Given the description of an element on the screen output the (x, y) to click on. 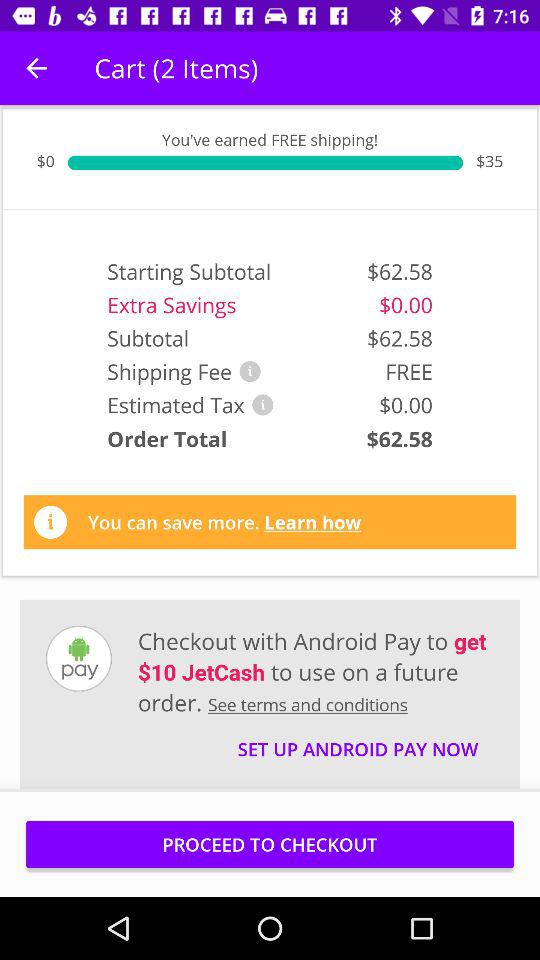
turn off icon above the $0 icon (36, 68)
